Given the description of an element on the screen output the (x, y) to click on. 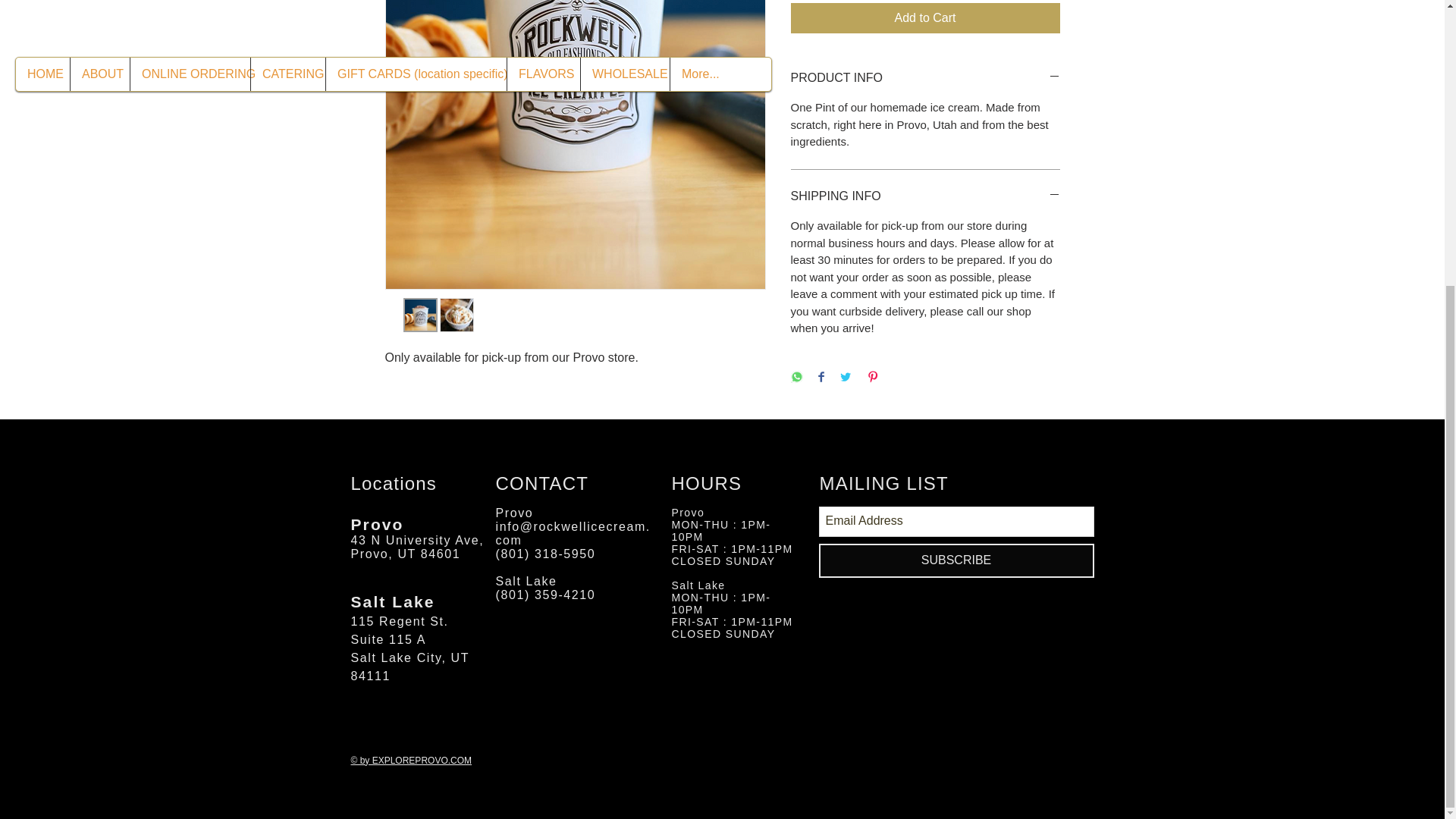
SUBSCRIBE (956, 560)
PRODUCT INFO (924, 77)
SHIPPING INFO (924, 196)
Add to Cart (924, 18)
